Given the description of an element on the screen output the (x, y) to click on. 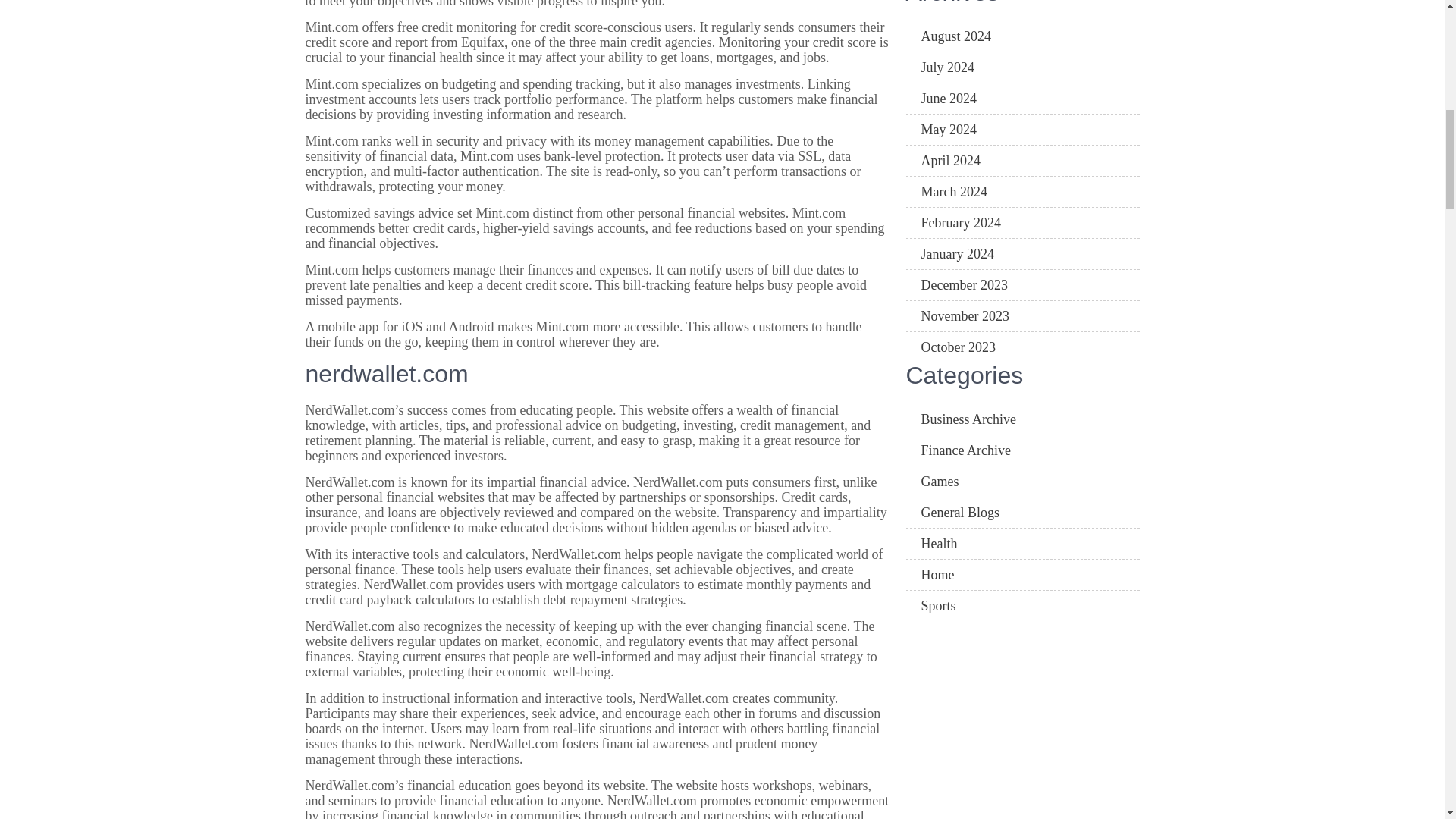
August 2024 (1021, 36)
June 2024 (1021, 98)
July 2024 (1021, 67)
May 2024 (1021, 129)
